Given the description of an element on the screen output the (x, y) to click on. 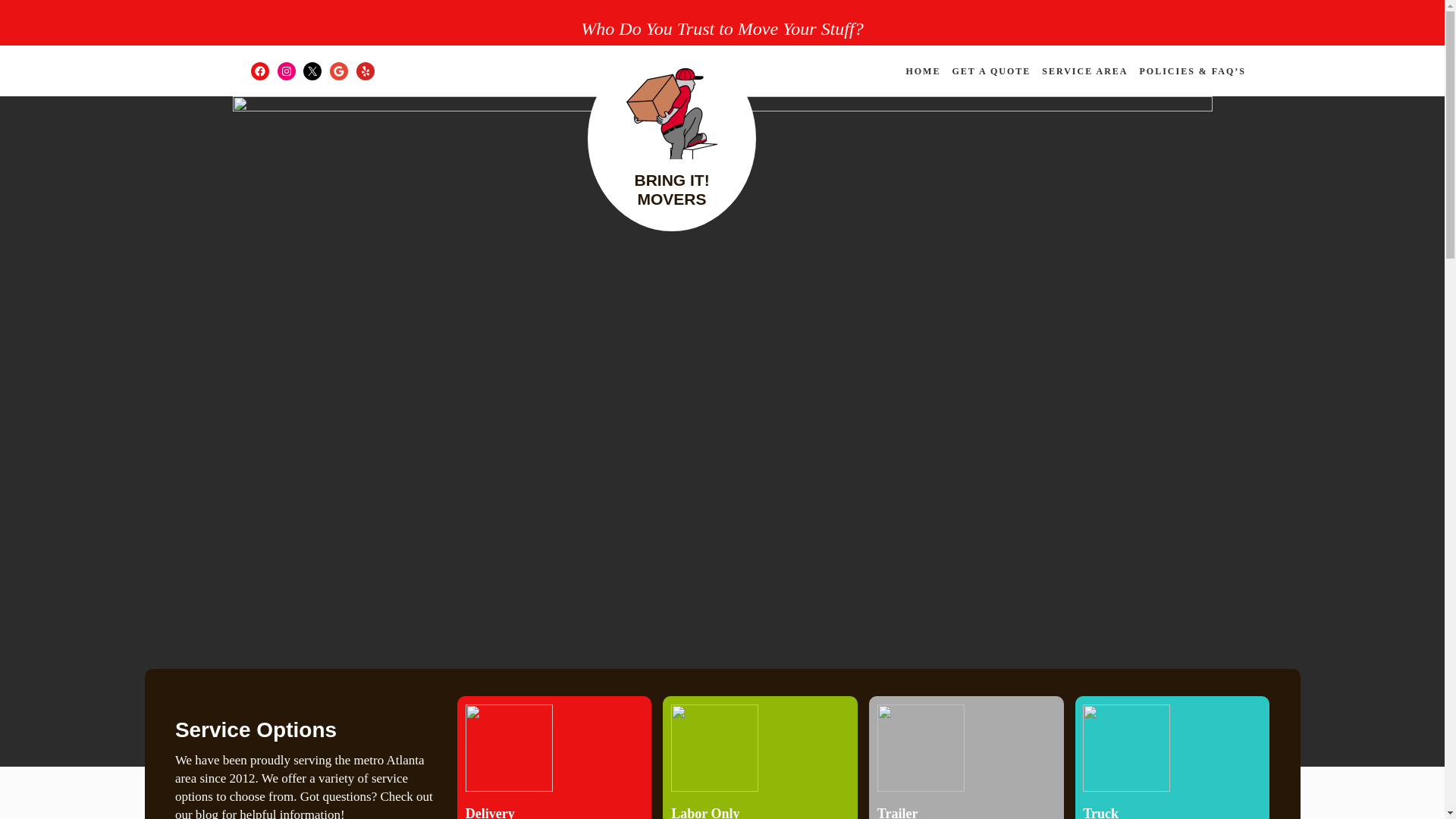
GET A QUOTE (991, 71)
HOME (922, 71)
Facebook (259, 71)
SERVICE AREA (1084, 71)
Yelp (365, 71)
BRING IT! MOVERS (671, 189)
Instagram (286, 71)
Google (338, 71)
X (311, 71)
